Given the description of an element on the screen output the (x, y) to click on. 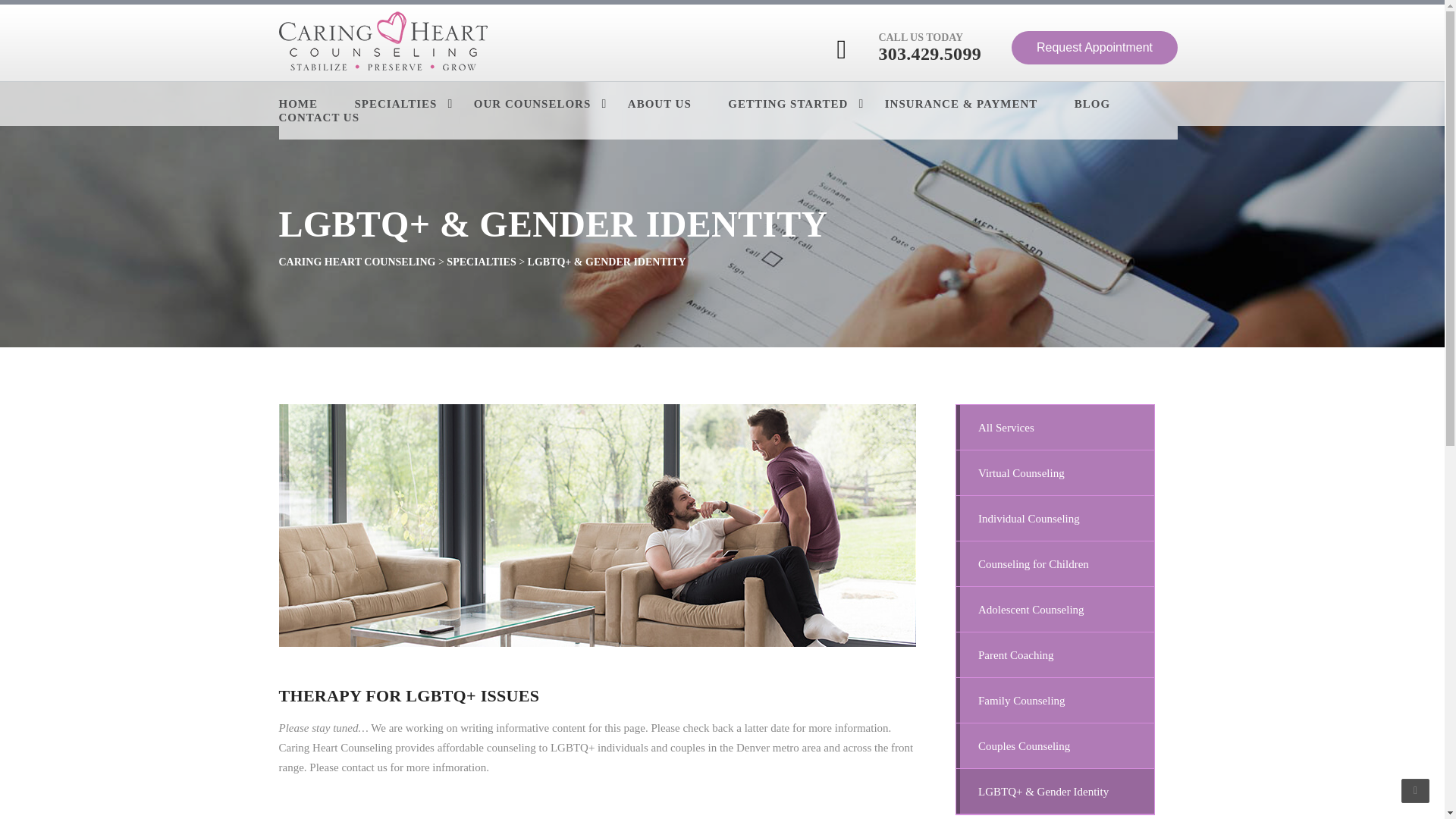
ABOUT US (676, 103)
Request Appointment (1094, 47)
303.429.5099 (929, 53)
SPECIALTIES (413, 103)
OUR COUNSELORS (549, 103)
Go to Caring Heart Counseling. (357, 261)
GETTING STARTED (805, 103)
Go to the Specialties Category archives. (480, 261)
BLOG (1109, 103)
HOME (315, 103)
